Given the description of an element on the screen output the (x, y) to click on. 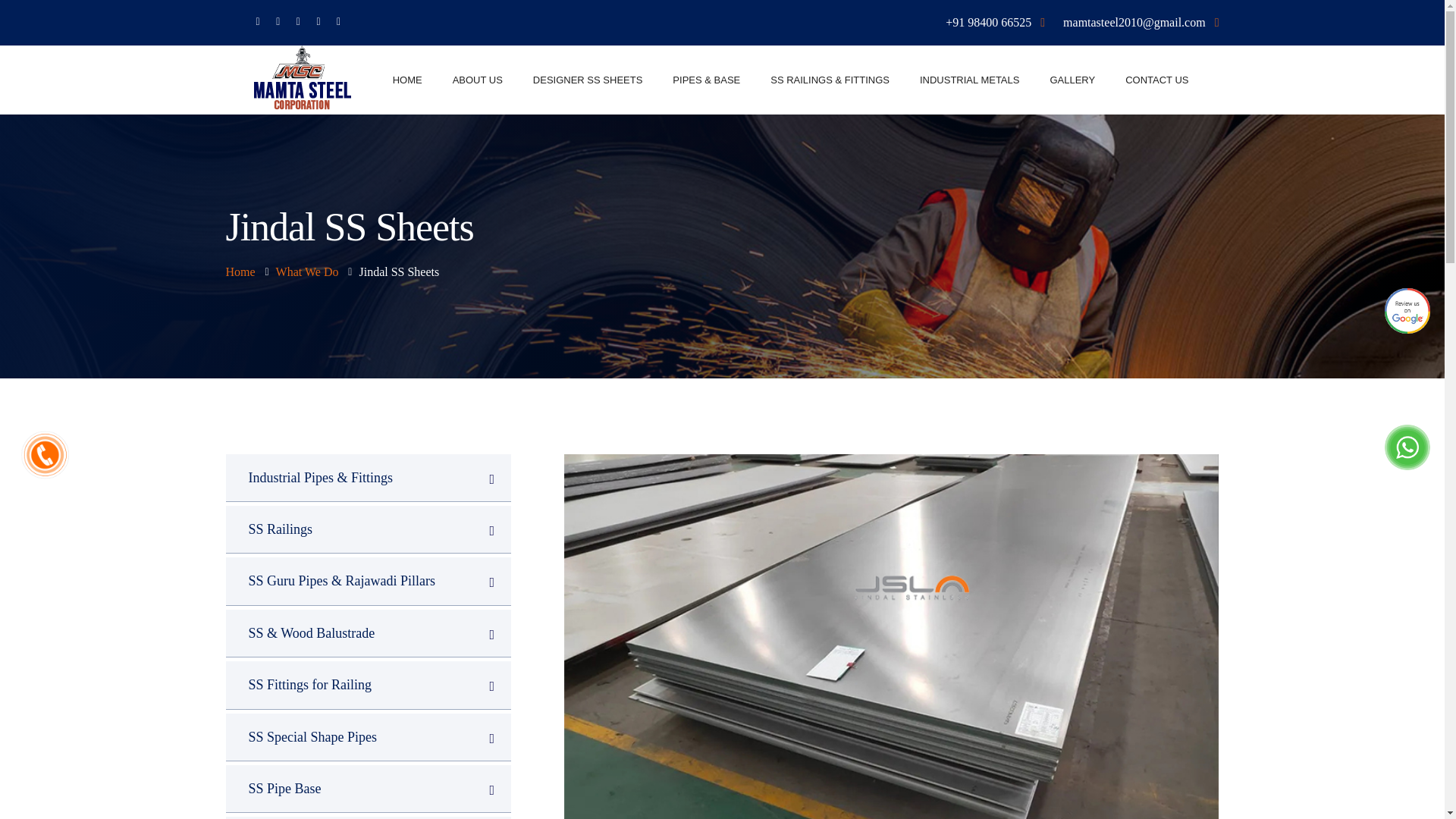
WS (1406, 310)
INDUSTRIAL METALS (969, 79)
HOME (407, 79)
DESIGNER SS SHEETS (587, 79)
GALLERY (1071, 79)
WS (44, 455)
WS (1406, 447)
ABOUT US (477, 79)
